Given the description of an element on the screen output the (x, y) to click on. 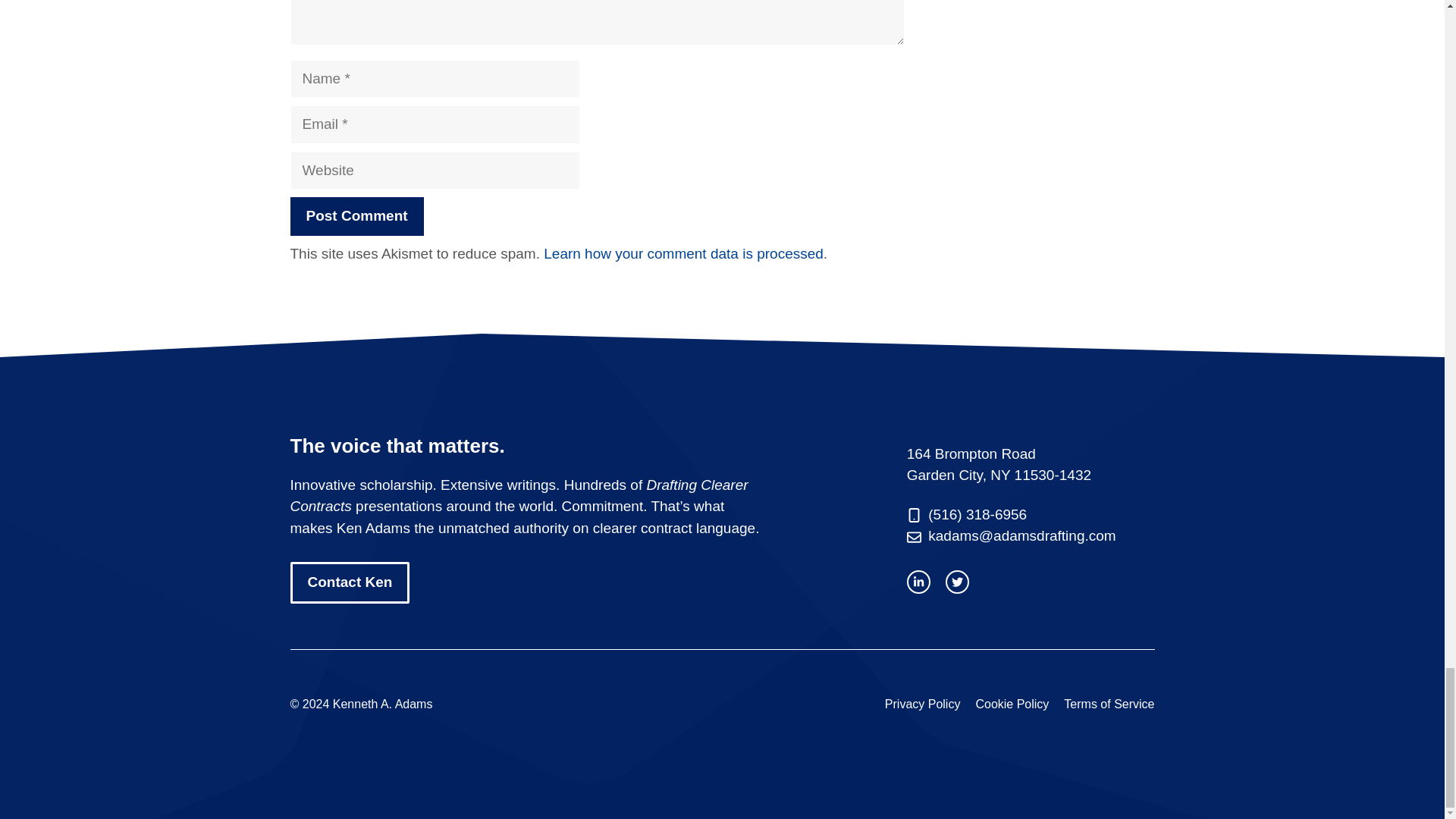
Post Comment (356, 216)
Post Comment (356, 216)
Learn how your comment data is processed (683, 253)
